Given the description of an element on the screen output the (x, y) to click on. 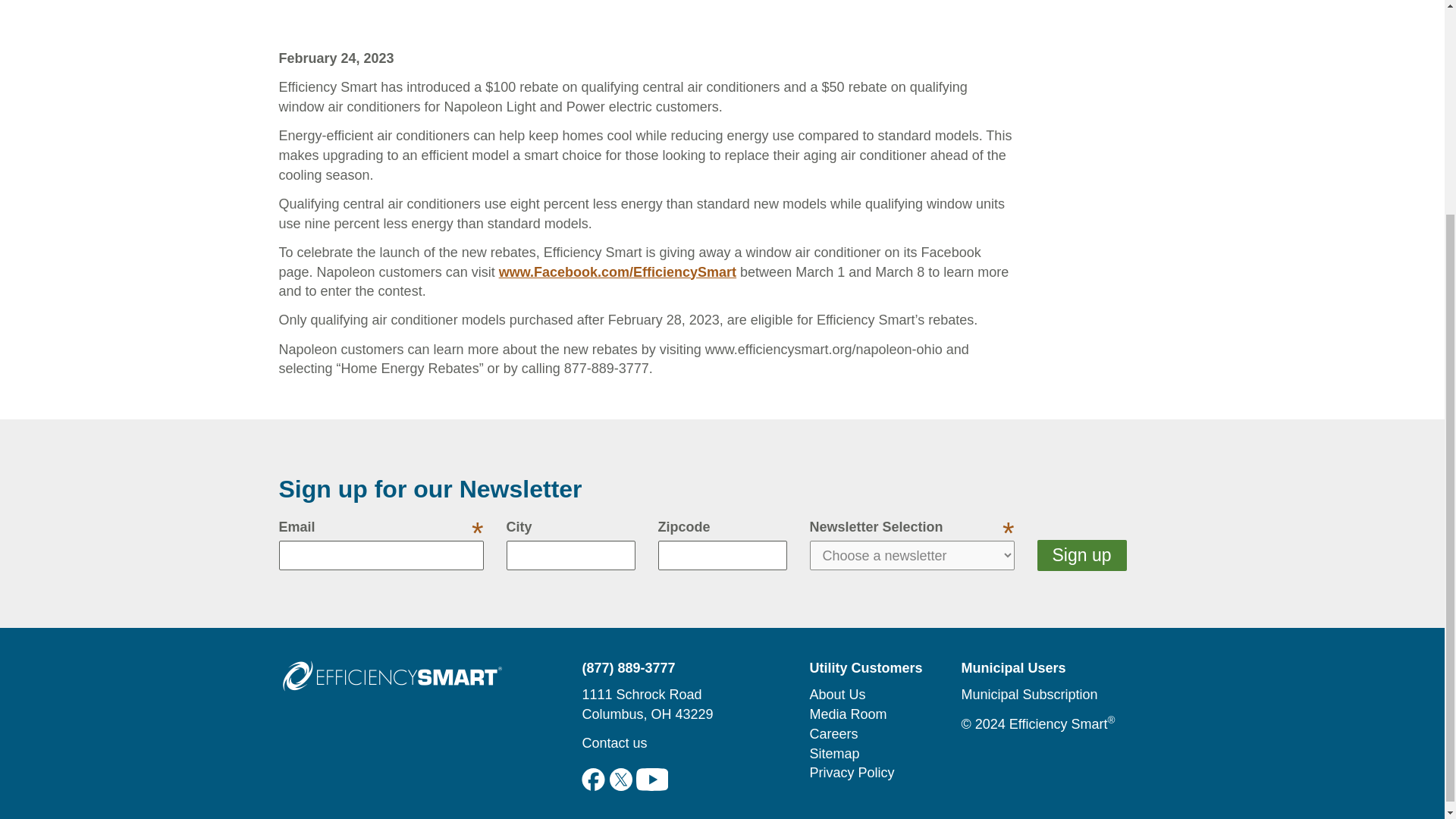
Sitemap (834, 753)
About Us (836, 694)
Privacy Policy (851, 772)
Sign up (1081, 554)
Municipal Subscription (1028, 694)
Contact us (613, 743)
Careers (833, 734)
Media Room (847, 713)
